Given the description of an element on the screen output the (x, y) to click on. 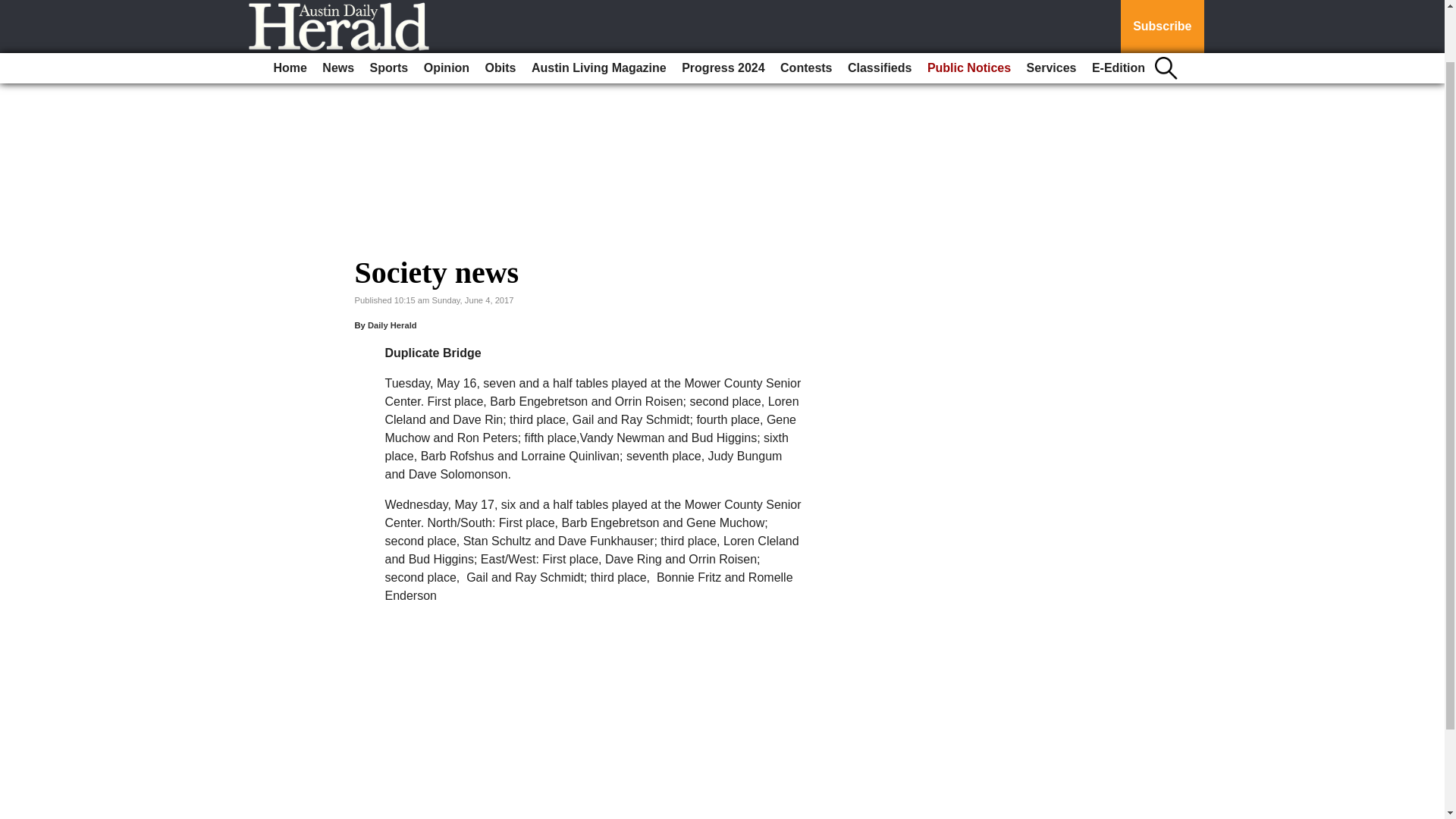
Contests (806, 10)
Austin Living Magazine (598, 10)
Home (289, 10)
Classifieds (879, 10)
Progress 2024 (722, 10)
Services (1051, 10)
Sports (389, 10)
News (337, 10)
Opinion (446, 10)
Obits (500, 10)
Public Notices (968, 10)
